Given the description of an element on the screen output the (x, y) to click on. 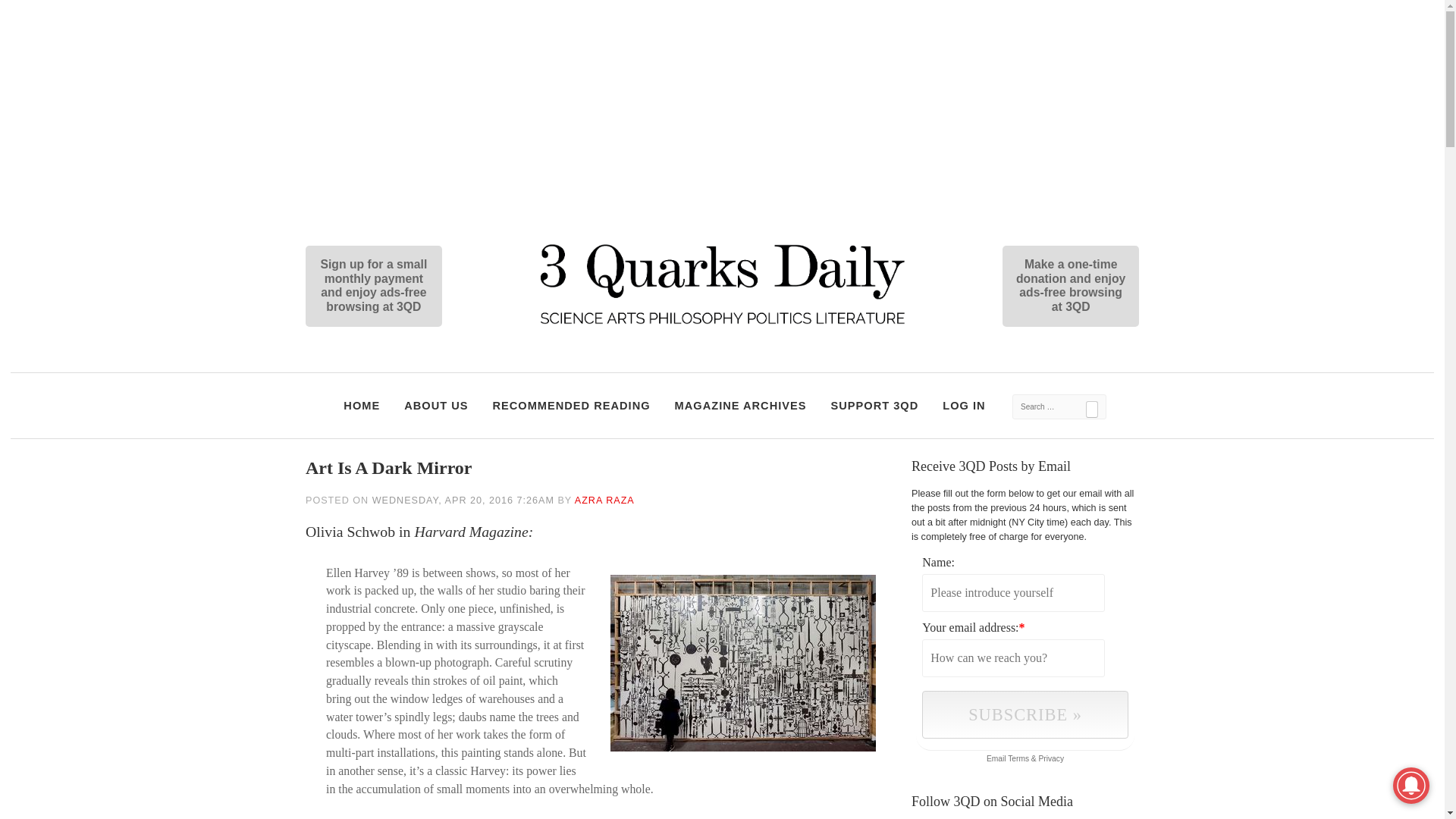
Please introduce yourself (1013, 592)
AZRA RAZA (604, 500)
WEDNESDAY, APR 20, 2016 7:26AM (463, 500)
Email subscriptions privacy policy (1051, 758)
Terms (1018, 758)
HOME (361, 406)
Email subscriptions terms of service (1018, 758)
MAGAZINE ARCHIVES (740, 406)
SUPPORT 3QD (875, 406)
Privacy (1051, 758)
ABOUT US (435, 406)
3 Quarks Daily (721, 325)
RECOMMENDED READING (570, 406)
